Given the description of an element on the screen output the (x, y) to click on. 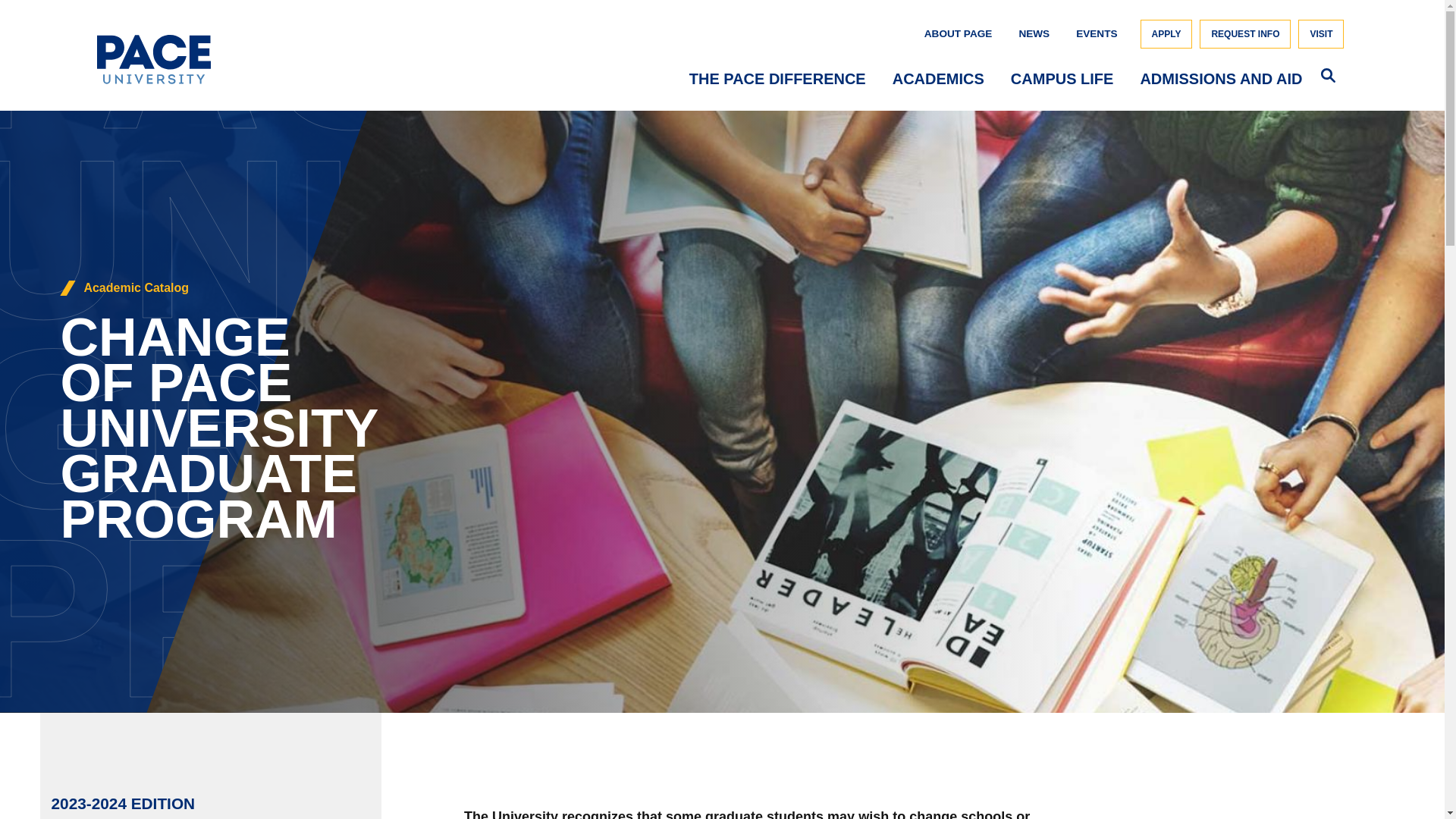
VISIT (1320, 33)
ACADEMICS (938, 82)
NEWS (1033, 33)
THE PACE DIFFERENCE (777, 82)
2023-2024 EDITION (122, 803)
Toggle Search Access (1334, 74)
ADMISSIONS AND AID (1220, 82)
Academic Catalog (135, 287)
CAMPUS LIFE (1061, 82)
EVENTS (1095, 33)
REQUEST INFO (1244, 33)
Pace University Home (154, 79)
APPLY (1166, 33)
ABOUT PAGE (958, 33)
